Given the description of an element on the screen output the (x, y) to click on. 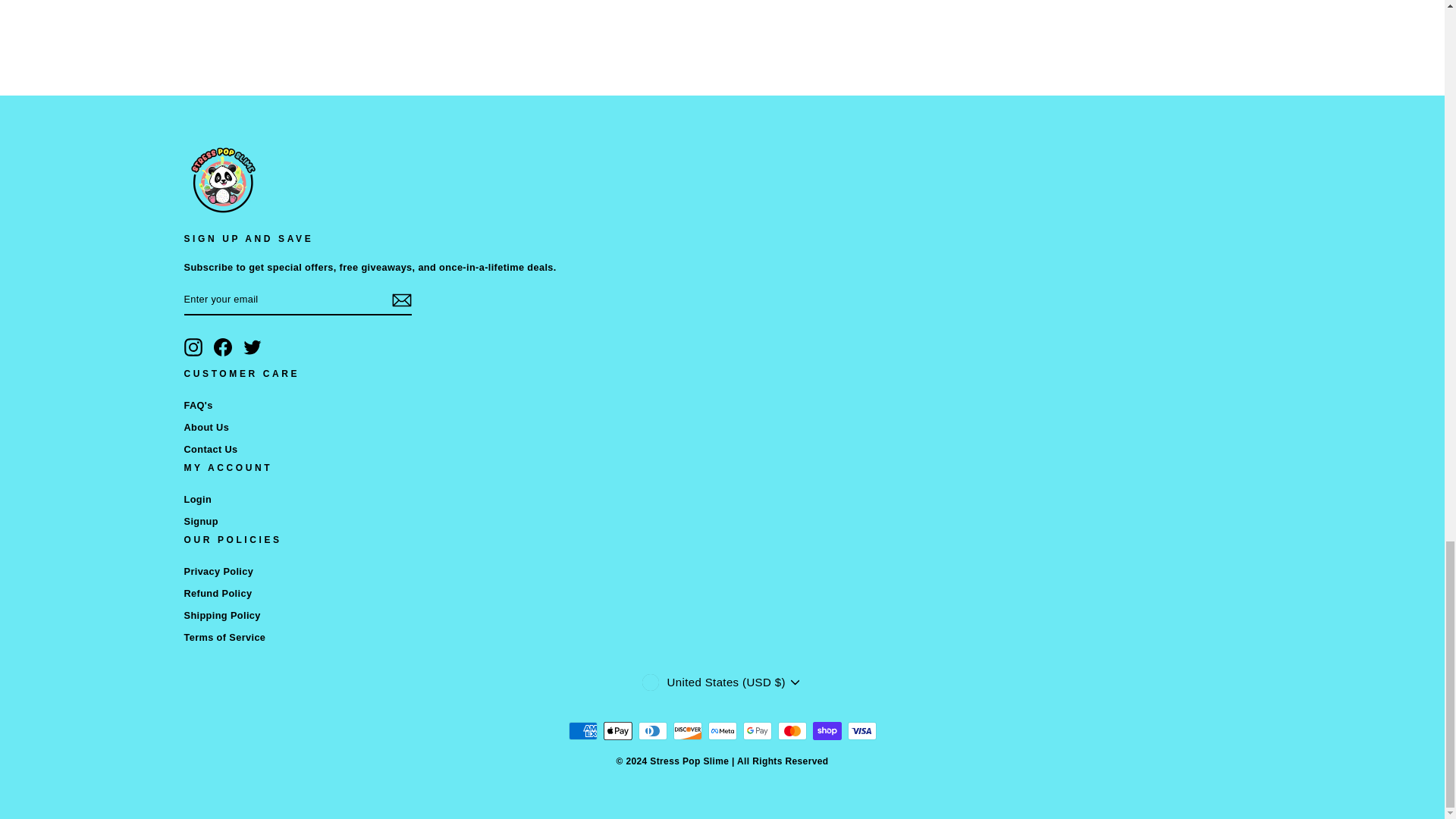
Diners Club (652, 730)
Meta Pay (721, 730)
American Express (582, 730)
Discover (686, 730)
Google Pay (756, 730)
Stress Pop Slime on Twitter (251, 347)
Stress Pop Slime on Facebook (222, 347)
Stress Pop Slime on Instagram (192, 347)
Apple Pay (617, 730)
